Given the description of an element on the screen output the (x, y) to click on. 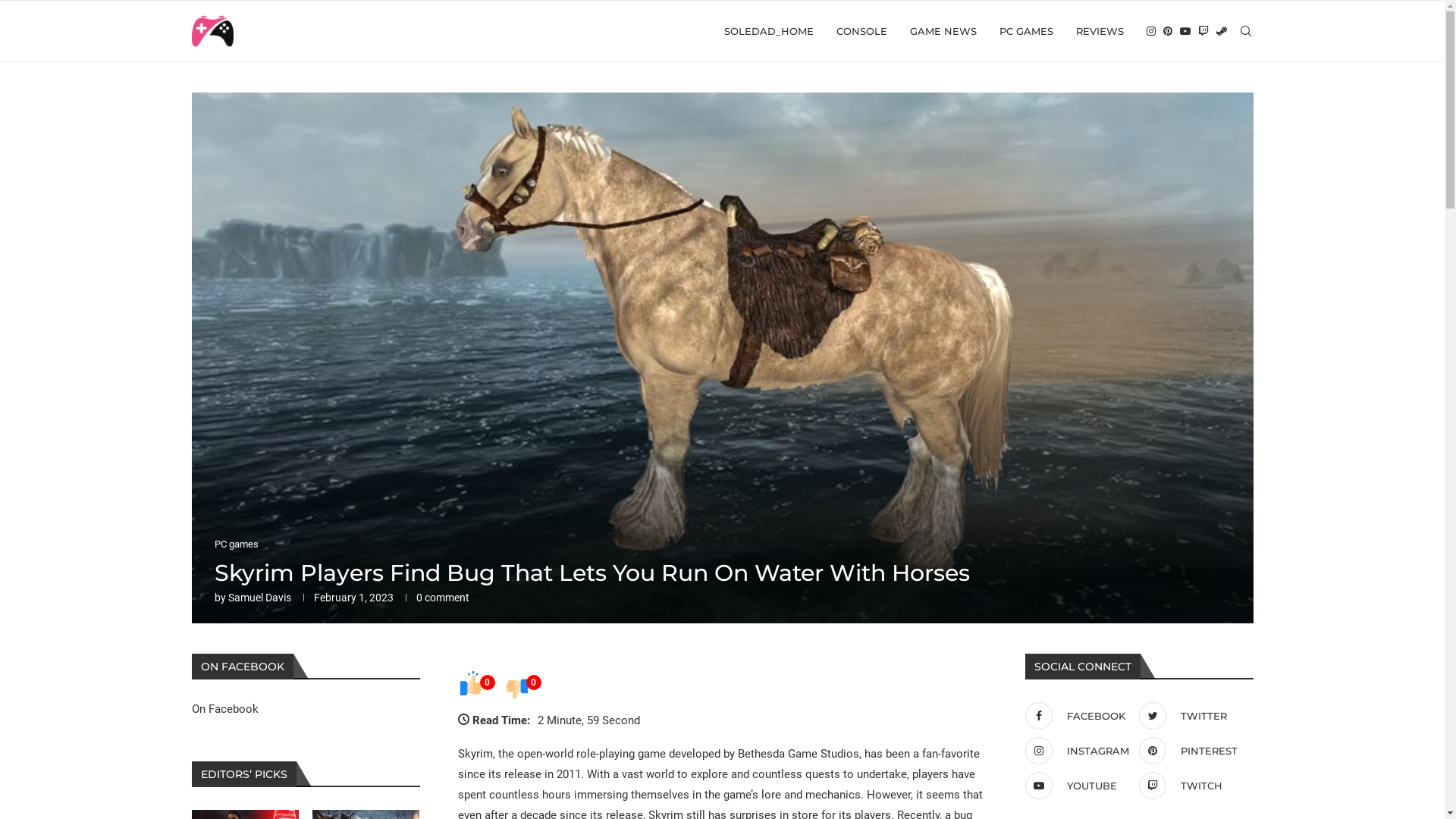
Samuel Davis Element type: text (258, 597)
CONSOLE Element type: text (860, 30)
REVIEWS Element type: text (1099, 30)
SOLEDAD_HOME Element type: text (767, 30)
On Facebook Element type: text (224, 708)
INSTAGRAM Element type: text (1077, 750)
GAME NEWS Element type: text (943, 30)
Search Element type: text (114, 15)
PC GAMES Element type: text (1026, 30)
TWITTER Element type: text (1192, 715)
YOUTUBE Element type: text (1077, 785)
PINTEREST Element type: text (1192, 750)
TWITCH Element type: text (1192, 785)
PC games Element type: text (235, 544)
FACEBOOK Element type: text (1077, 715)
